Given the description of an element on the screen output the (x, y) to click on. 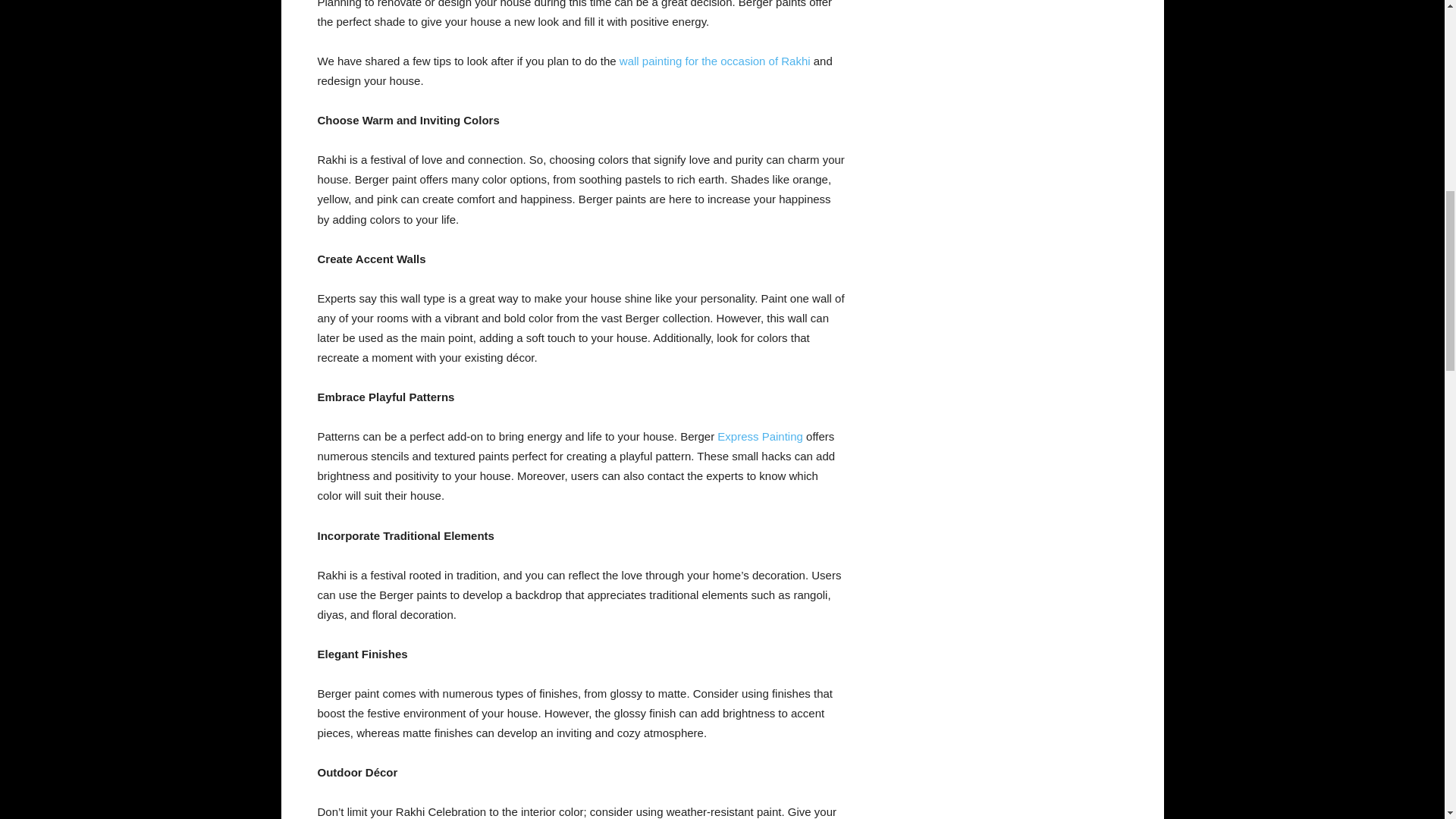
Express Painting (760, 436)
wall painting for the occasion of Rakhi (715, 60)
